Given the description of an element on the screen output the (x, y) to click on. 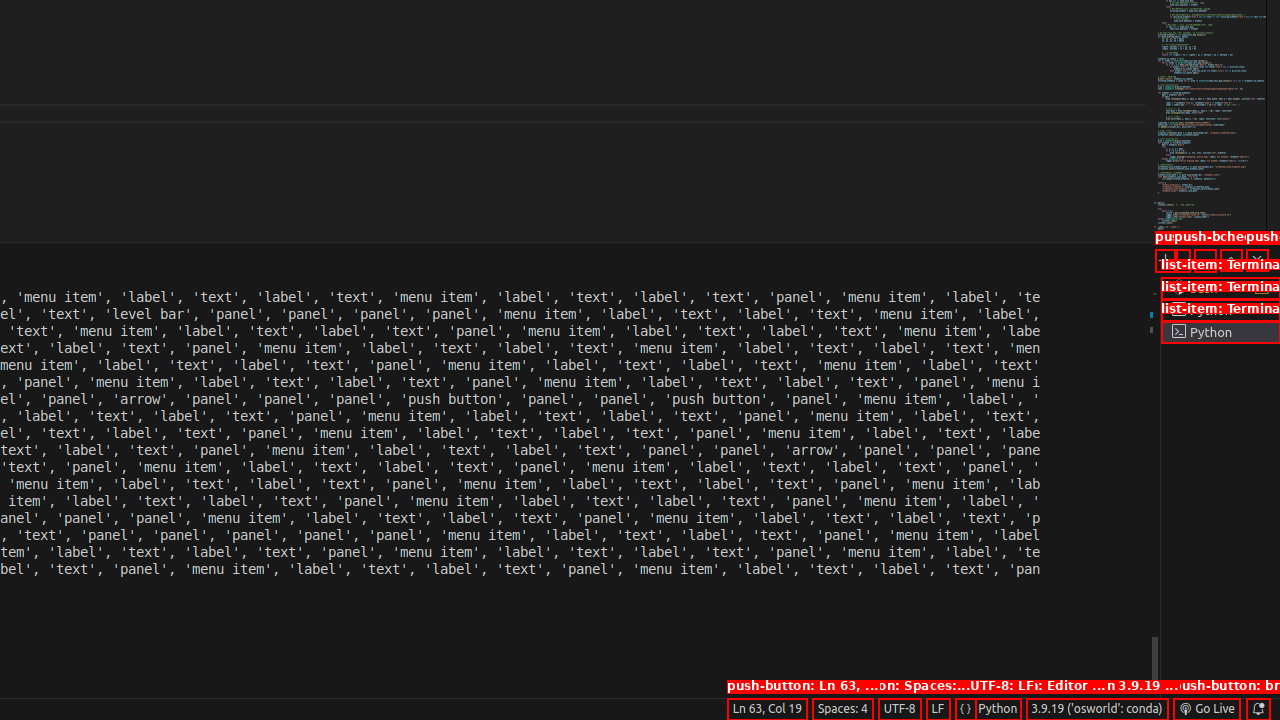
Python Element type: push-button (998, 709)
Terminal 2 Python Element type: list-item (1220, 310)
Ln 63, Col 19 Element type: push-button (767, 709)
Launch Profile... Element type: push-button (1182, 260)
broadcast Go Live, Click to run live server Element type: push-button (1206, 709)
